Given the description of an element on the screen output the (x, y) to click on. 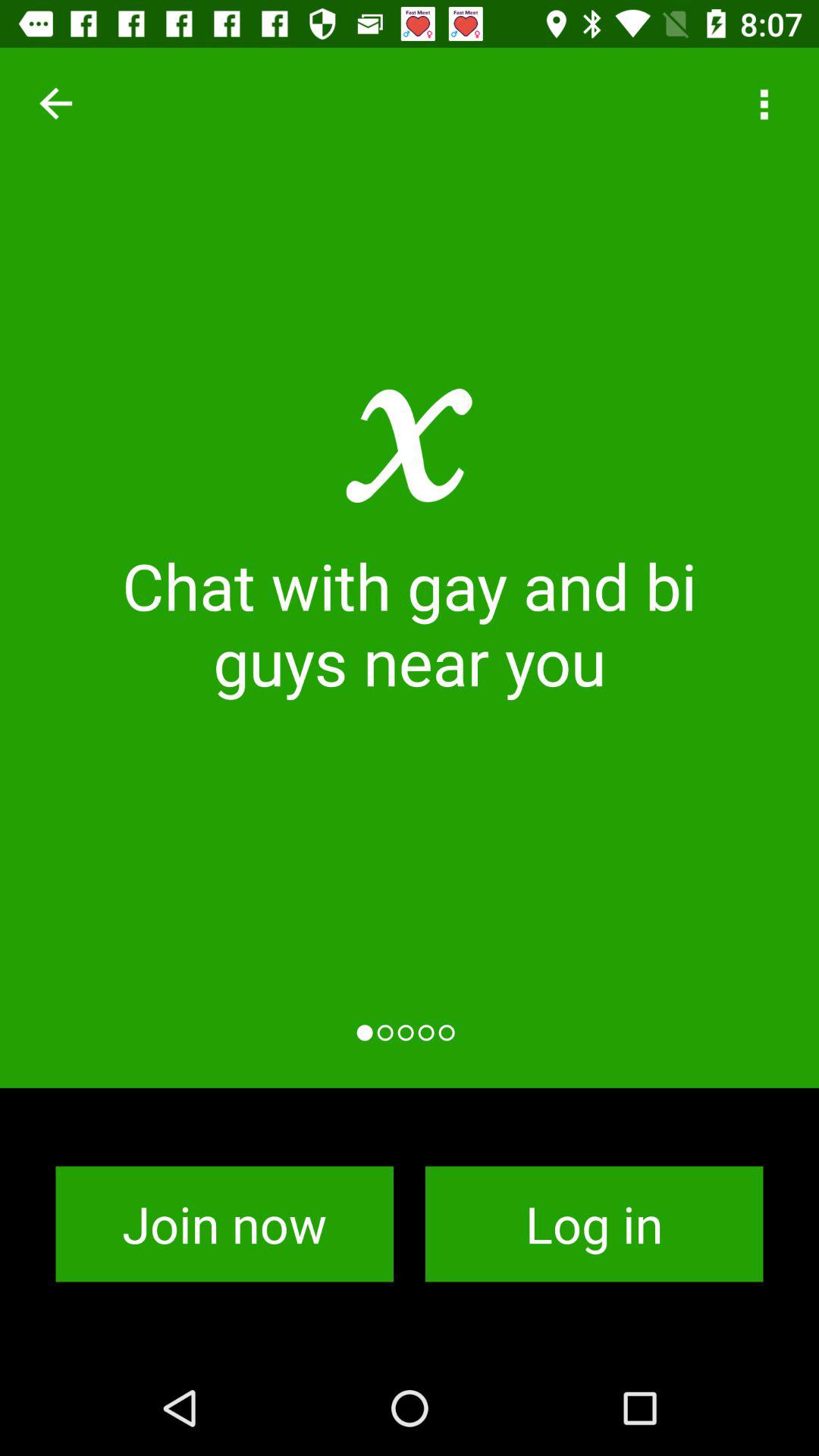
choose the icon next to log in app (224, 1223)
